Given the description of an element on the screen output the (x, y) to click on. 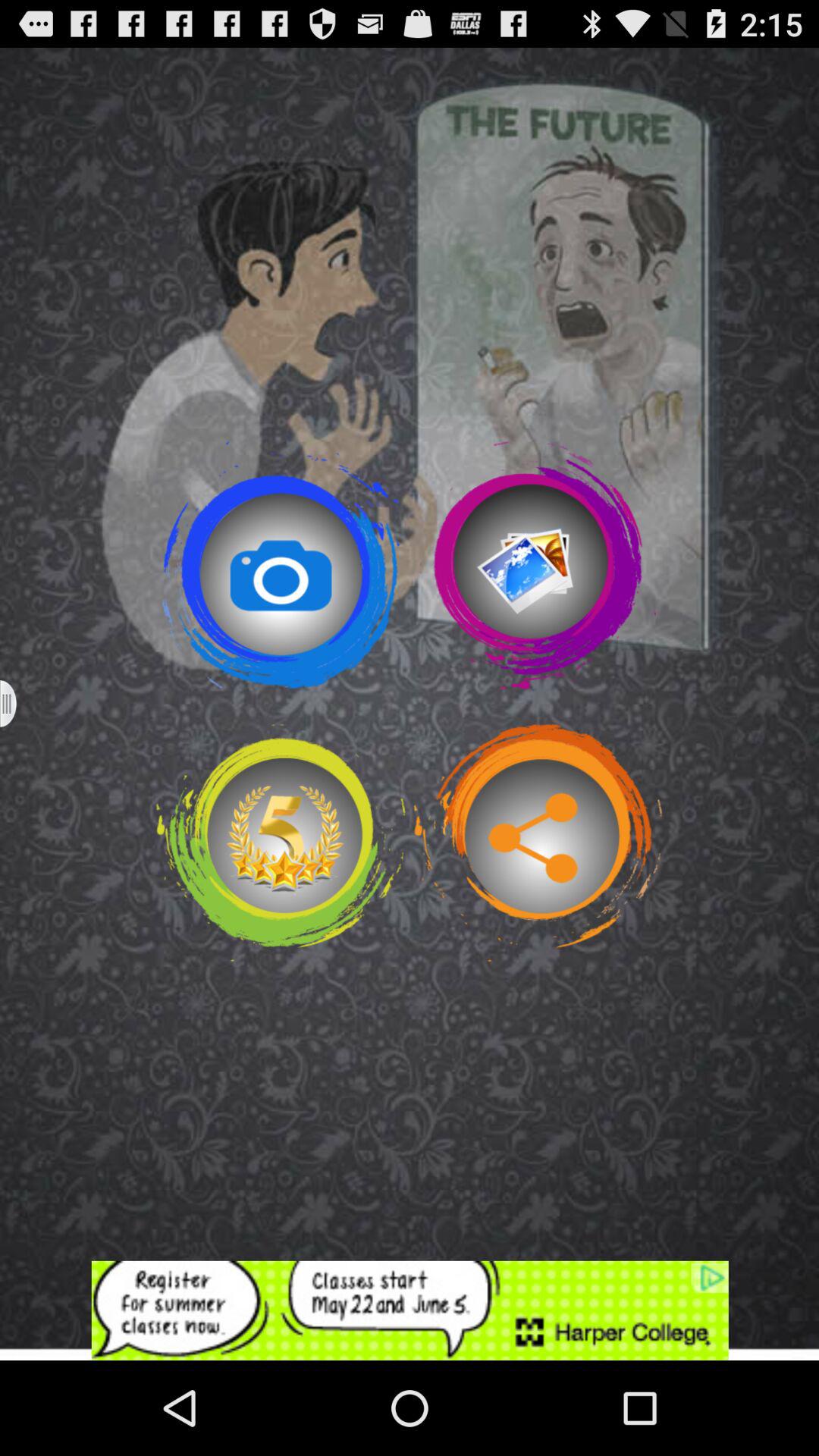
click the camera (280, 564)
